Given the description of an element on the screen output the (x, y) to click on. 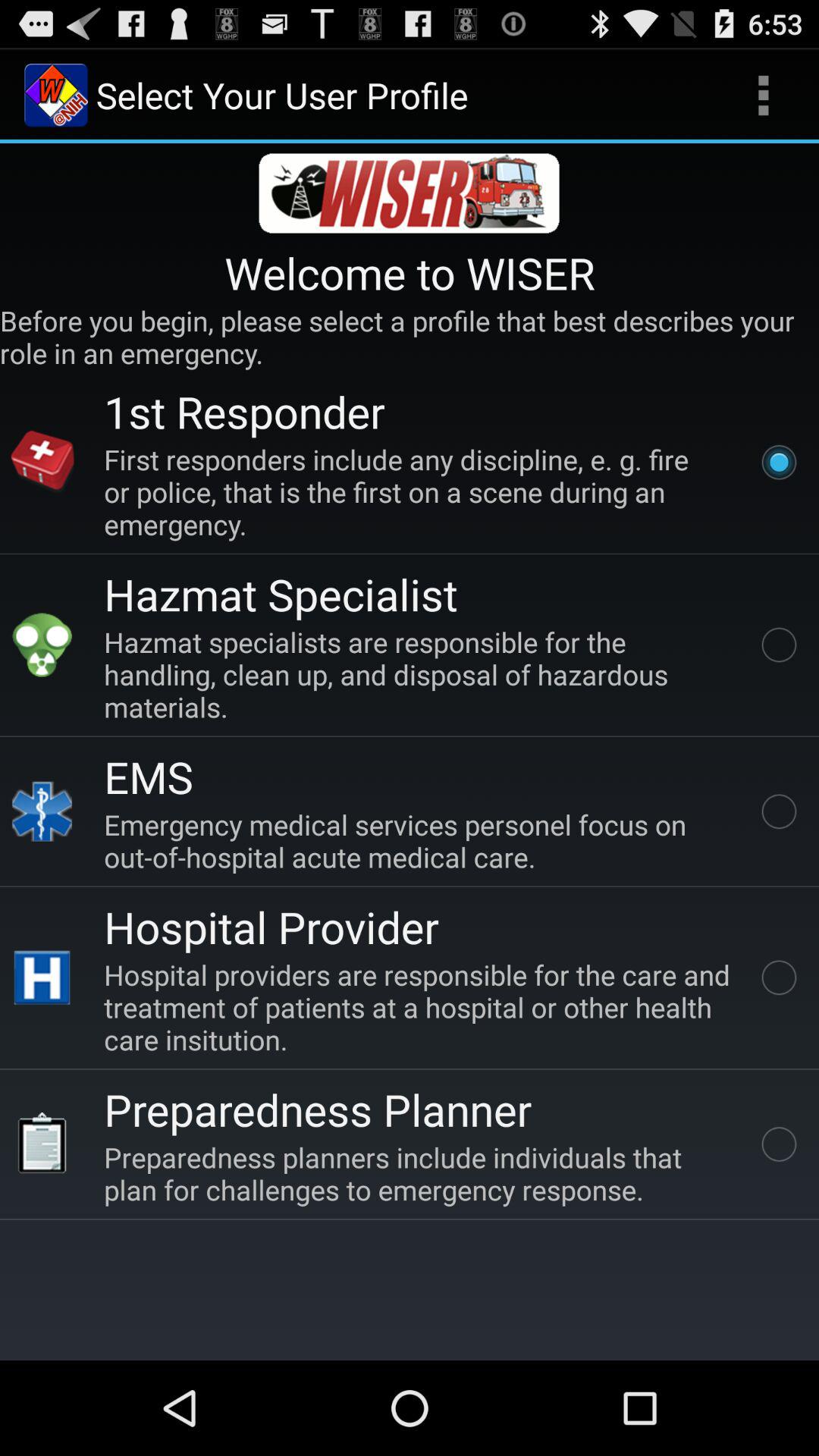
jump until emergency medical services icon (420, 840)
